Given the description of an element on the screen output the (x, y) to click on. 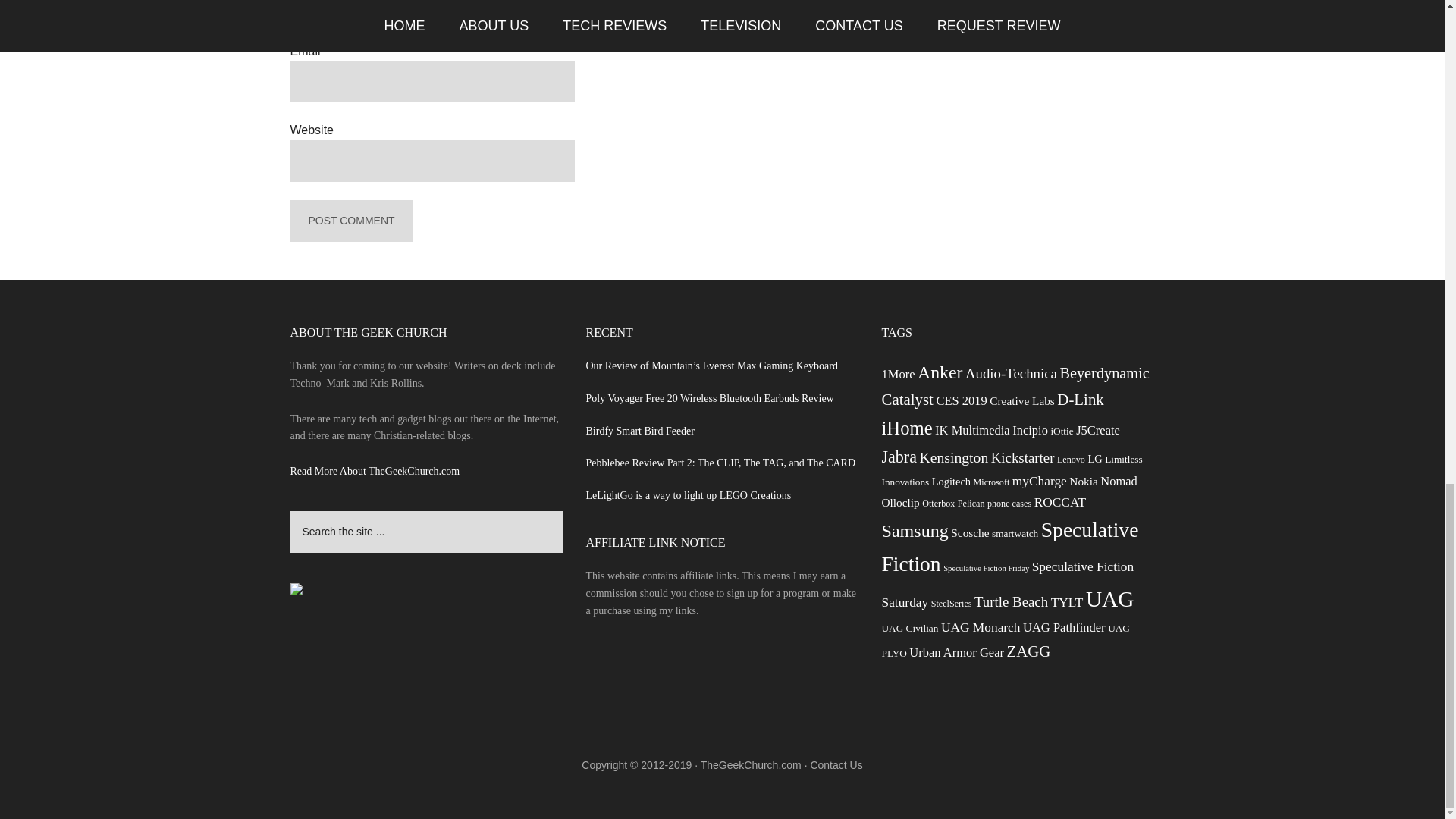
Post Comment (350, 220)
Post Comment (350, 220)
